Given the description of an element on the screen output the (x, y) to click on. 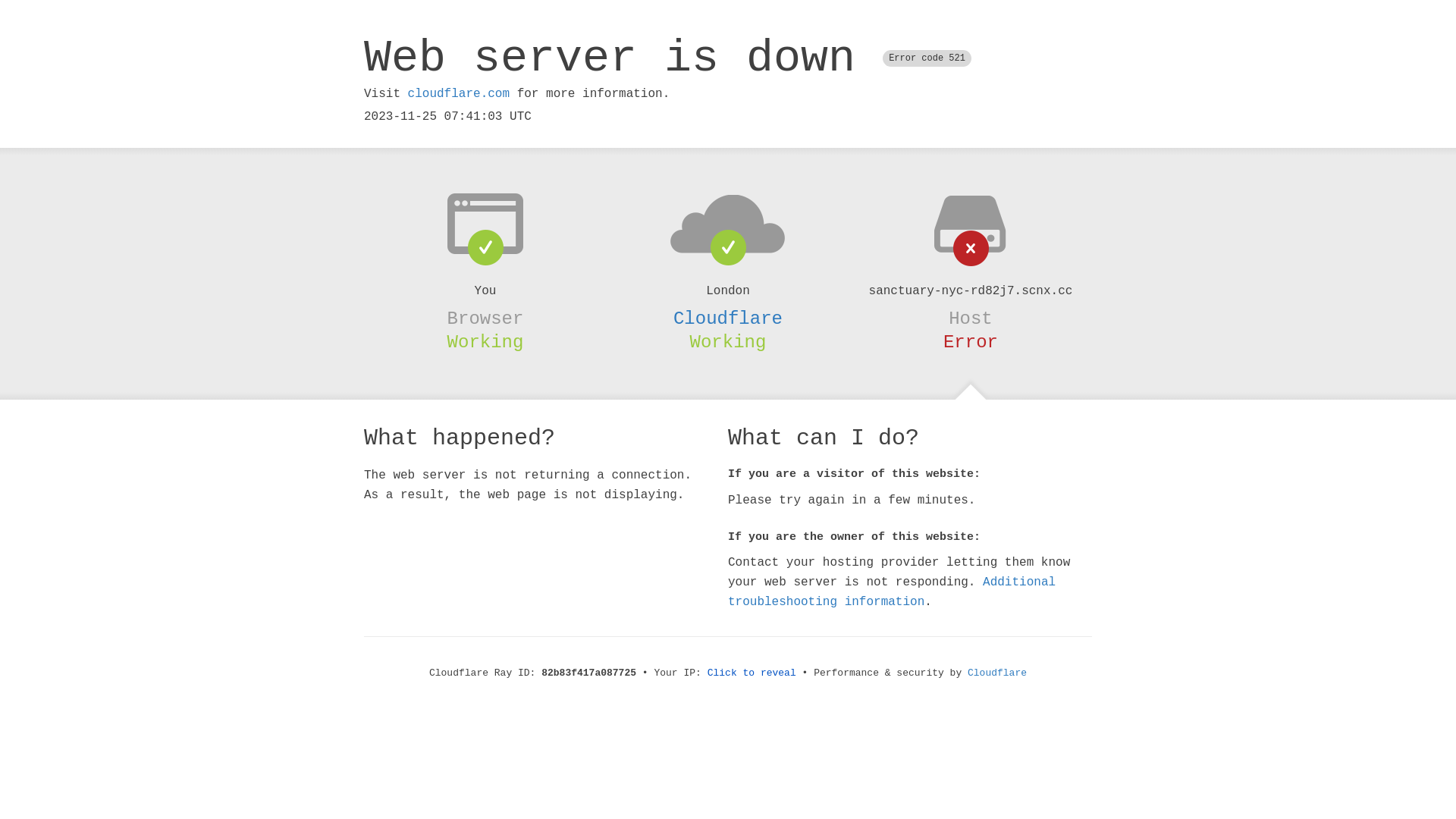
Cloudflare Element type: text (996, 672)
cloudflare.com Element type: text (458, 93)
Cloudflare Element type: text (727, 318)
Click to reveal Element type: text (751, 672)
Additional troubleshooting information Element type: text (891, 591)
